Given the description of an element on the screen output the (x, y) to click on. 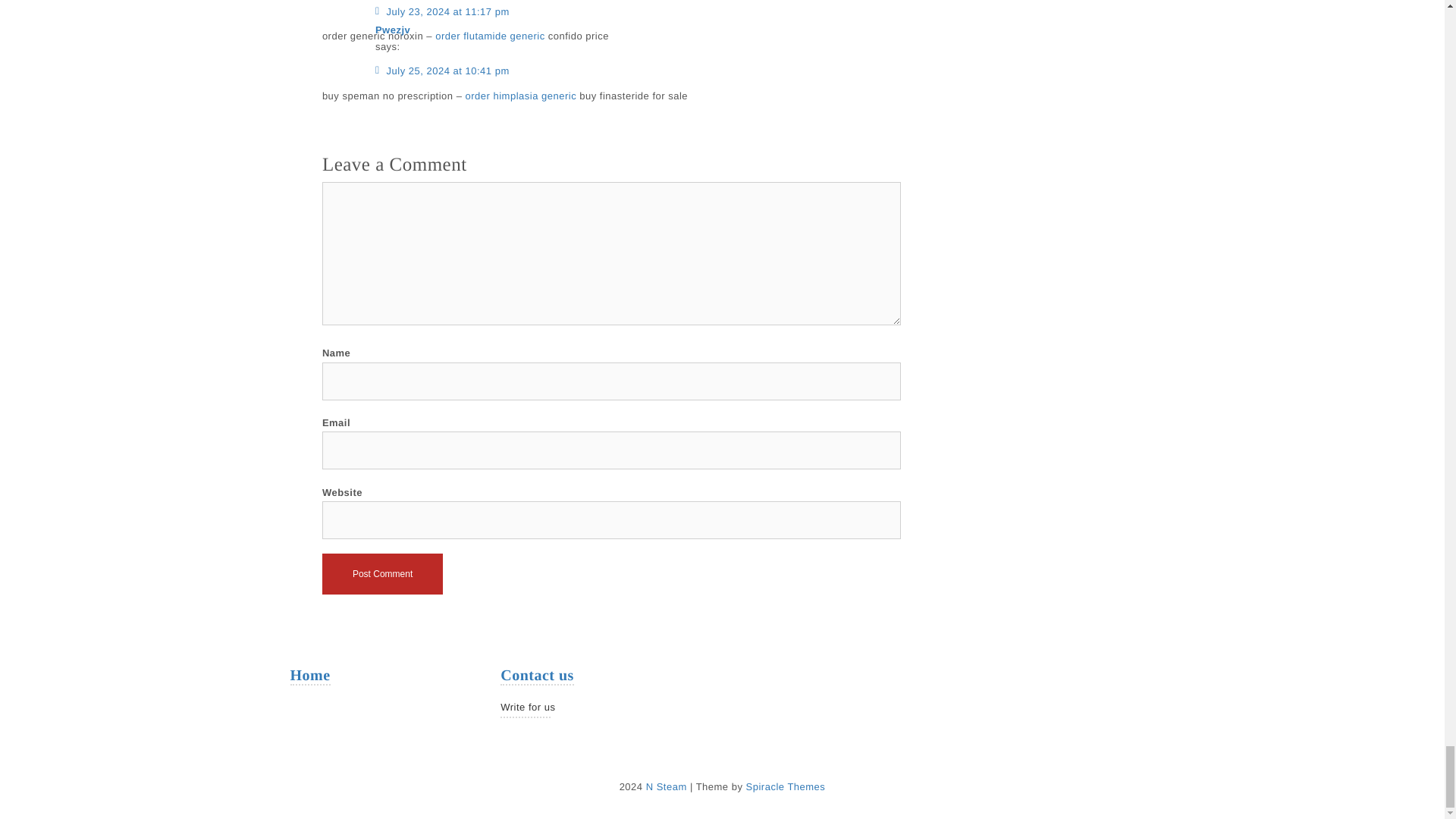
Post Comment (381, 573)
